Given the description of an element on the screen output the (x, y) to click on. 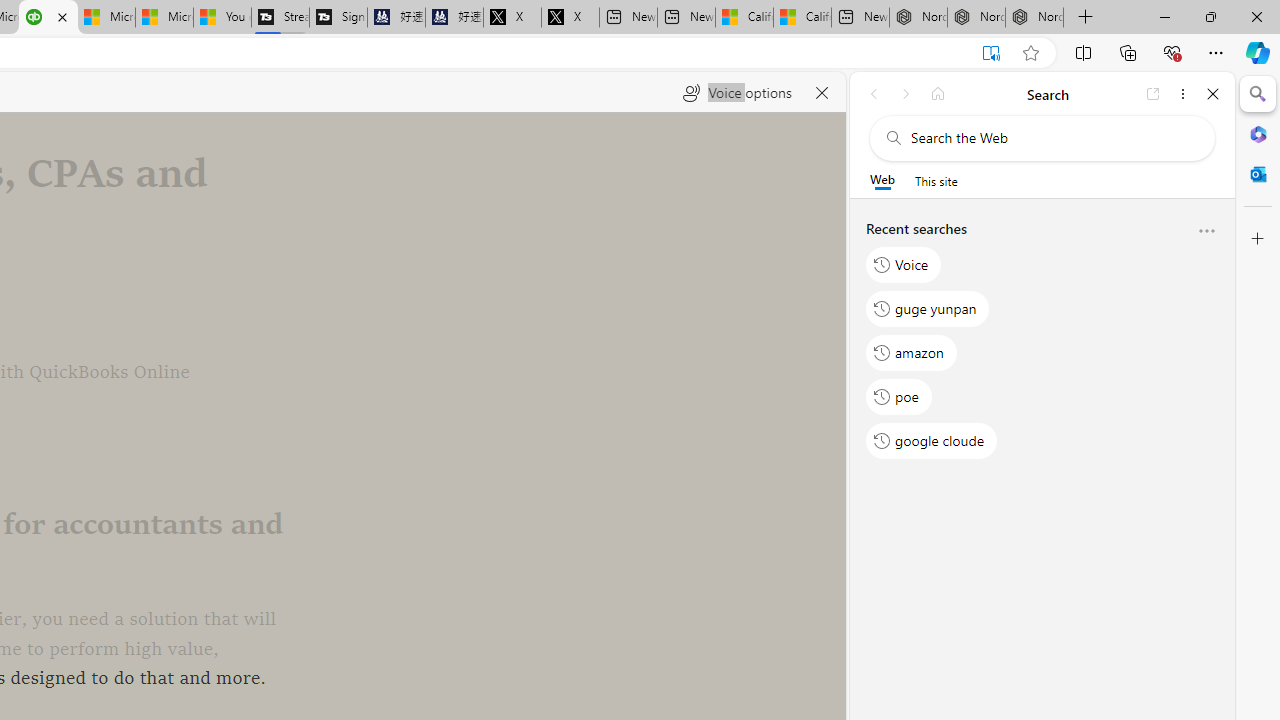
guge yunpan (927, 308)
Exit Immersive Reader (F9) (991, 53)
poe (898, 396)
Customize (1258, 239)
Voice (904, 264)
Web scope (882, 180)
